Given the description of an element on the screen output the (x, y) to click on. 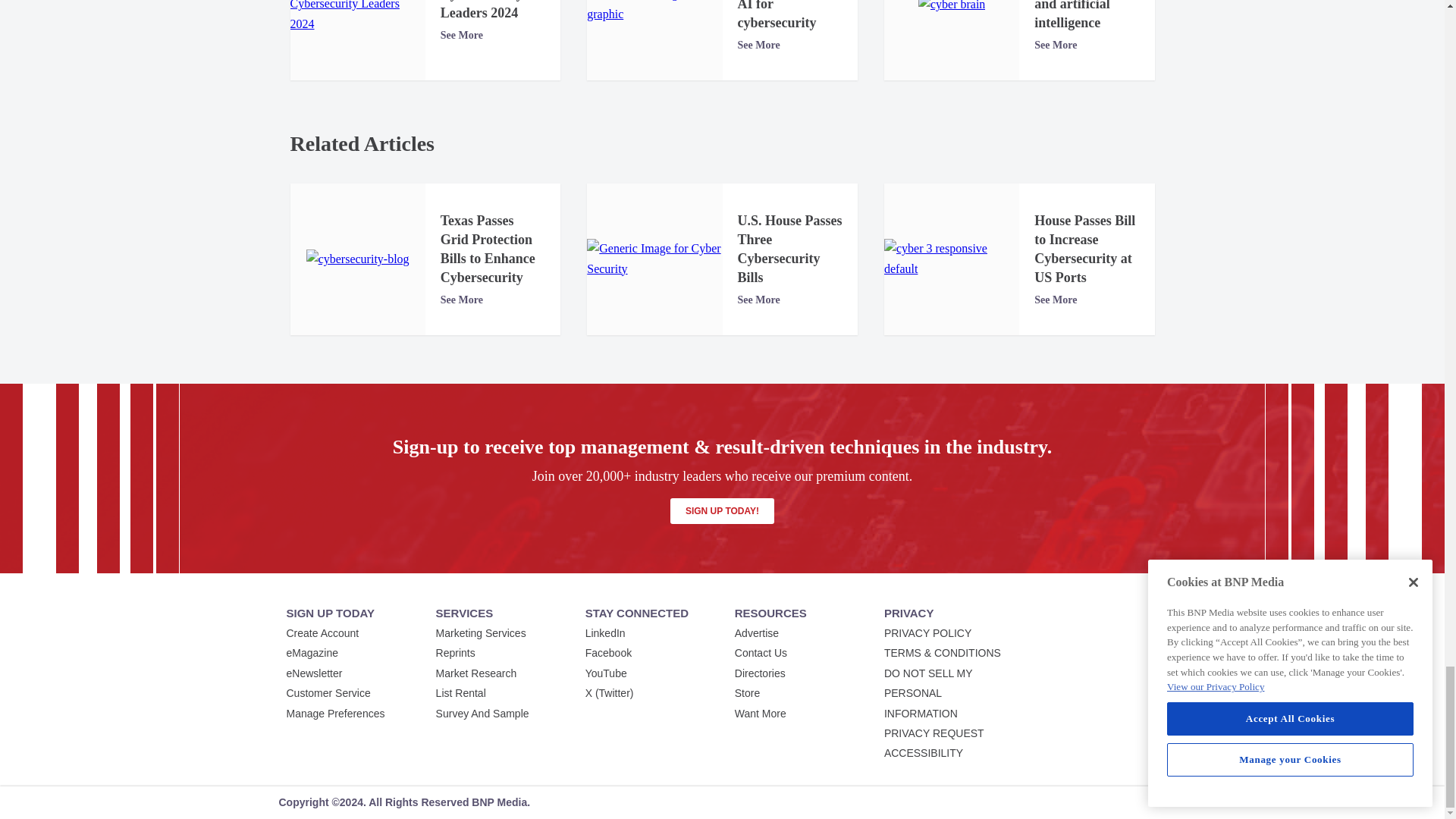
Security's Top Cybersecurity Leaders 2024 (357, 17)
cybersecurity-blog (357, 259)
cyber brain (951, 7)
Artificial Intelligence (654, 12)
Generic Image for Cyber Security (654, 259)
